Given the description of an element on the screen output the (x, y) to click on. 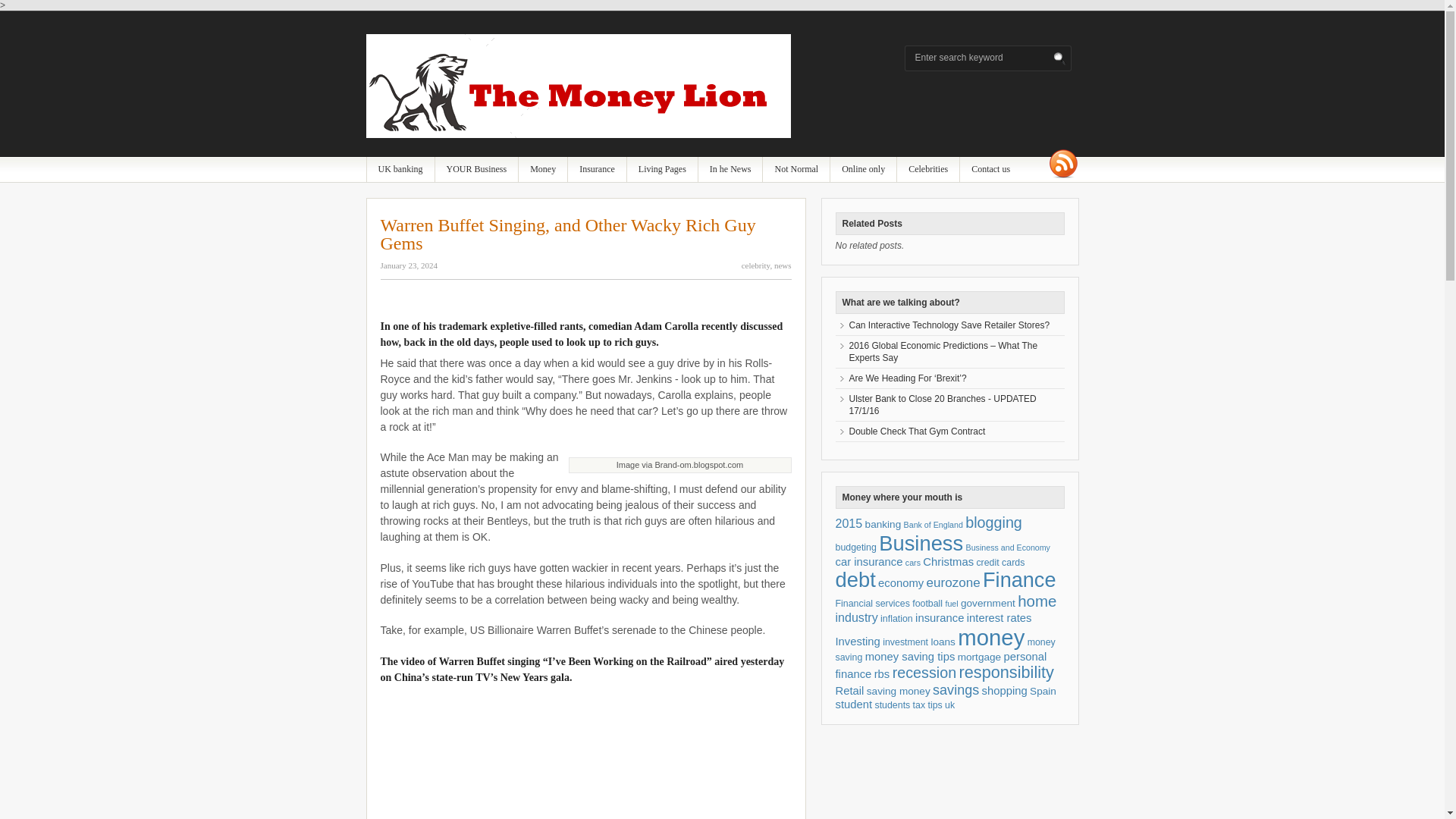
Living Pages (662, 169)
Enter search keyword (982, 57)
news (783, 265)
web (862, 169)
2015 (849, 522)
In he News (730, 169)
Go (1059, 58)
insurance (596, 169)
View all posts in news (783, 265)
Double Check That Gym Contract (916, 430)
